Given the description of an element on the screen output the (x, y) to click on. 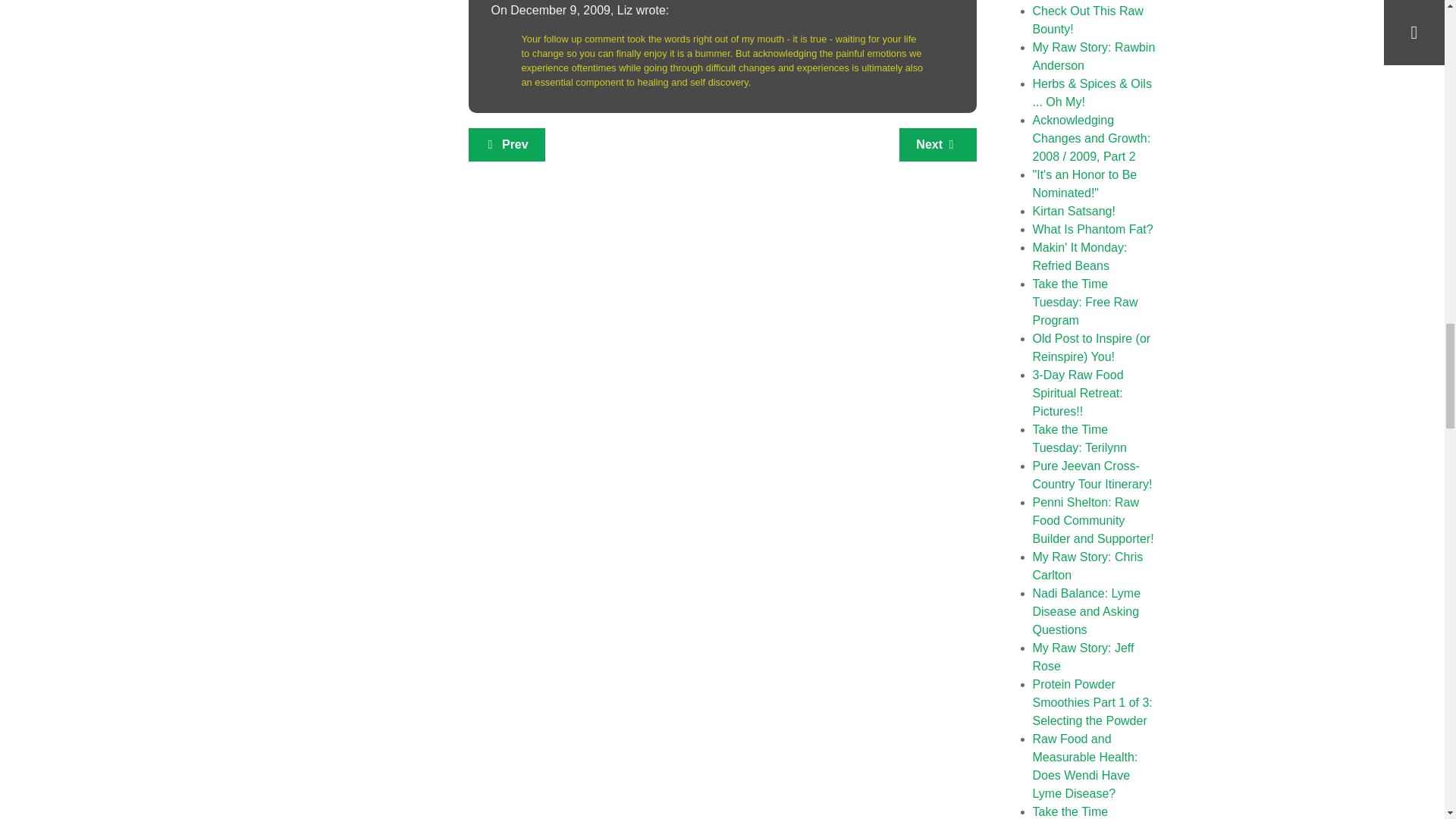
Next (937, 143)
Prev (506, 143)
Check Out This Raw Bounty! (1087, 20)
